Given the description of an element on the screen output the (x, y) to click on. 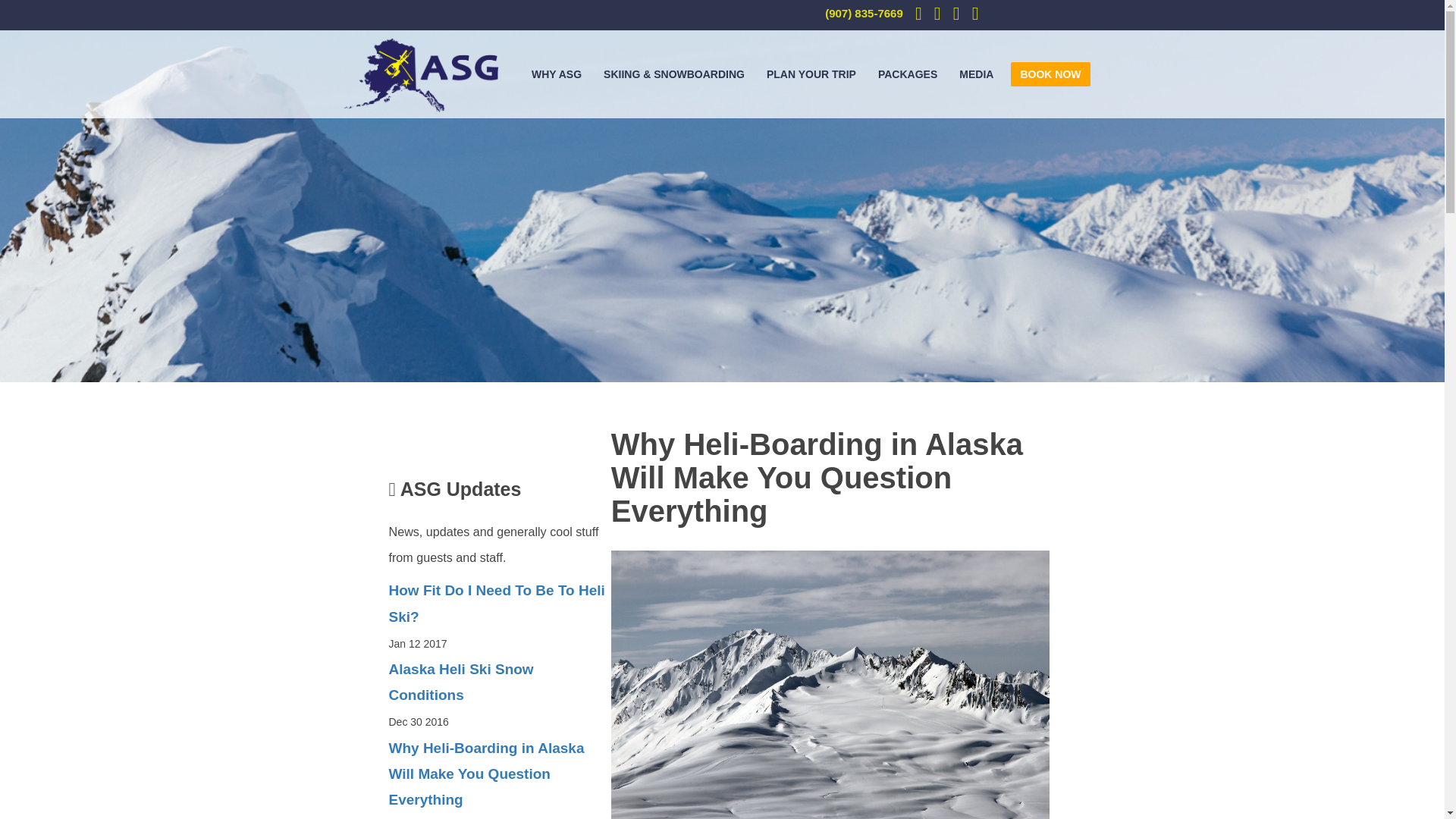
Alaska Heli Ski Snow Conditions (499, 682)
PACKAGES (907, 74)
BOOK NOW (1049, 74)
How Fit Do I Need To Be To Heli Ski? (499, 603)
MEDIA (976, 74)
PLAN YOUR TRIP (810, 74)
Home: Alaska Heli Skiing and Snowboarding (422, 75)
WHY ASG (556, 74)
